Given the description of an element on the screen output the (x, y) to click on. 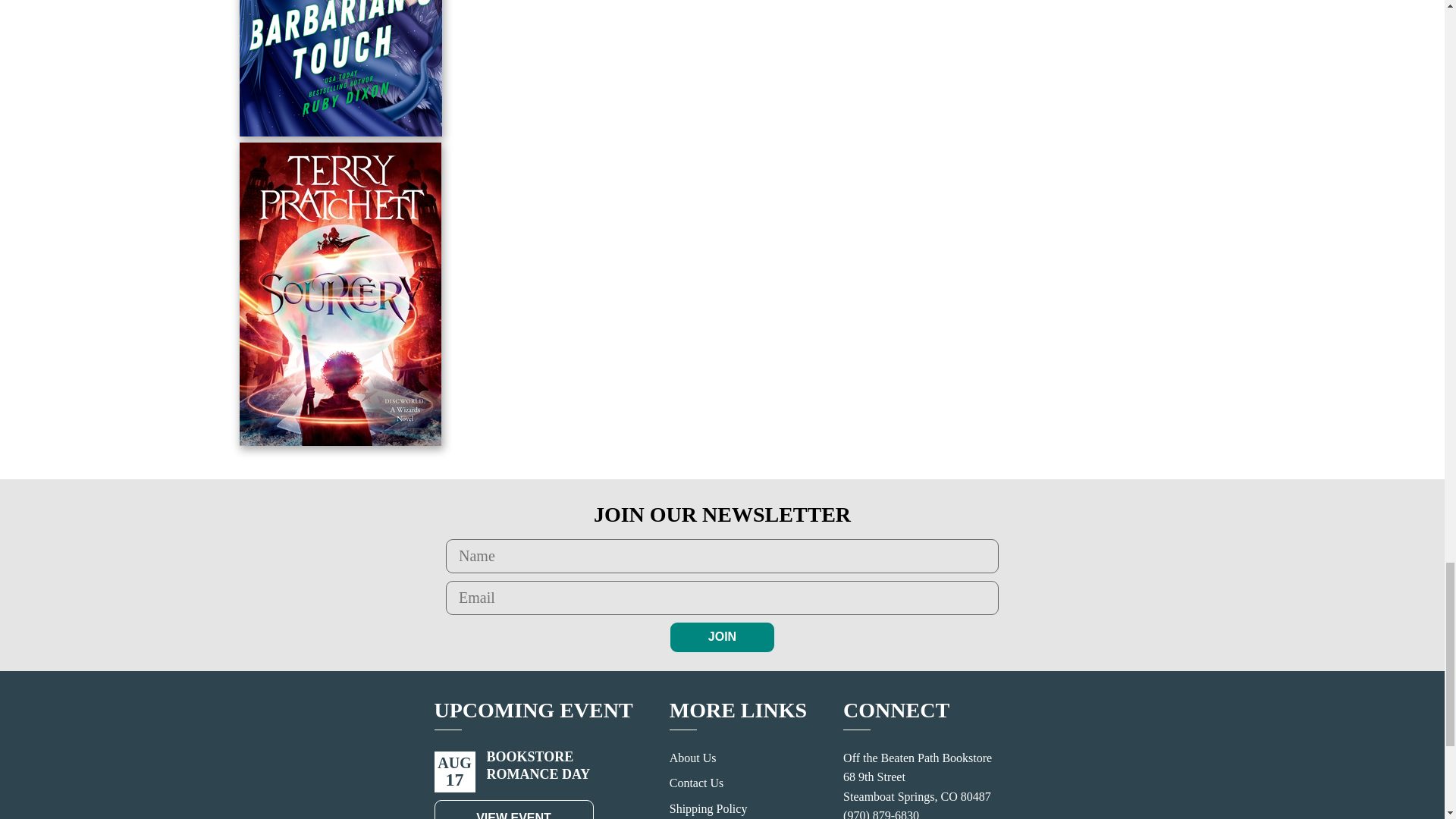
VIEW EVENT (512, 809)
Join (721, 636)
Join (721, 636)
About Us (692, 757)
